Given the description of an element on the screen output the (x, y) to click on. 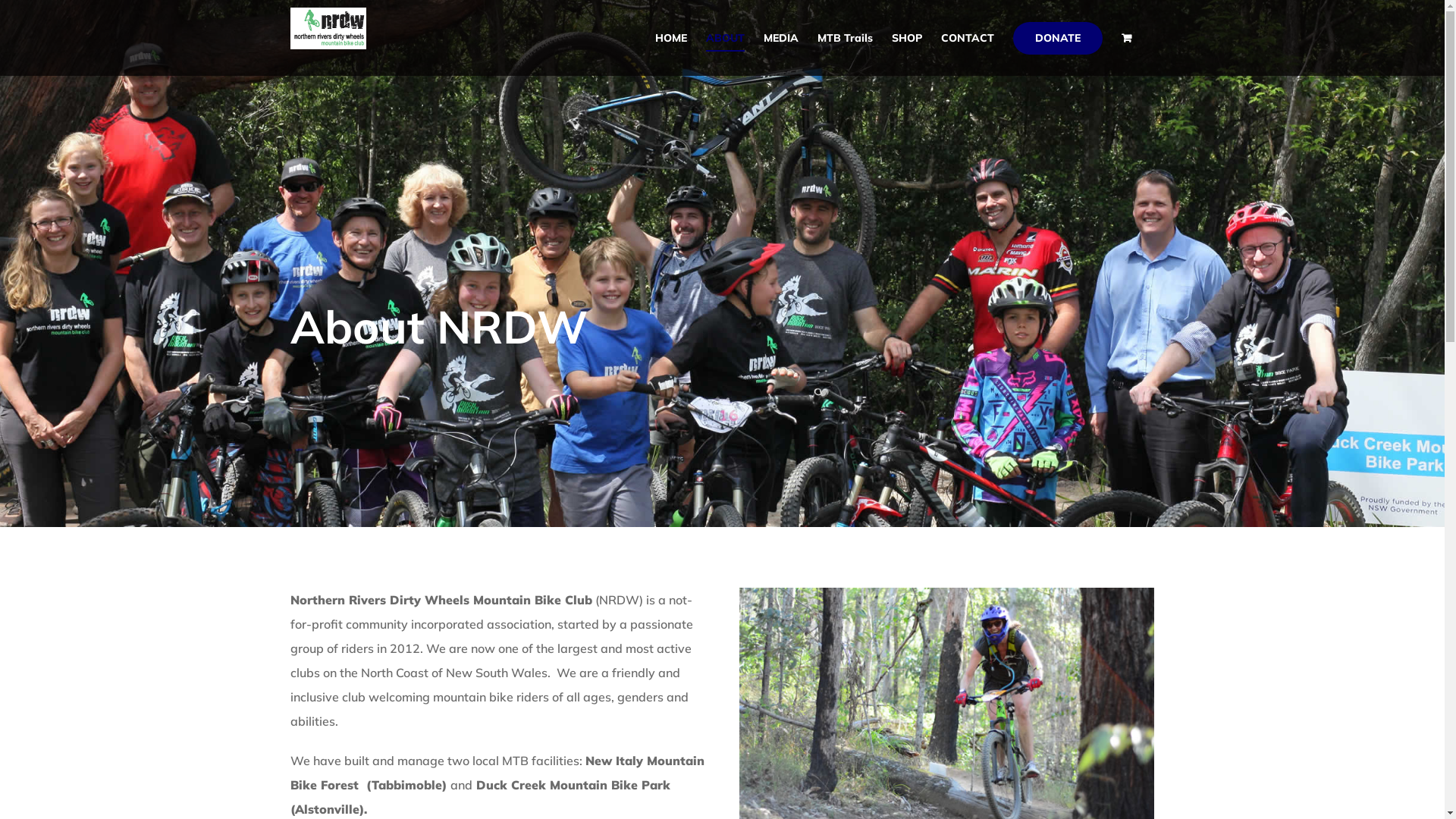
DONATE Element type: text (1057, 37)
ABOUT Element type: text (724, 37)
MTB Trails Element type: text (844, 37)
SHOP Element type: text (906, 37)
CONTACT Element type: text (966, 37)
MEDIA Element type: text (779, 37)
HOME Element type: text (671, 37)
